Given the description of an element on the screen output the (x, y) to click on. 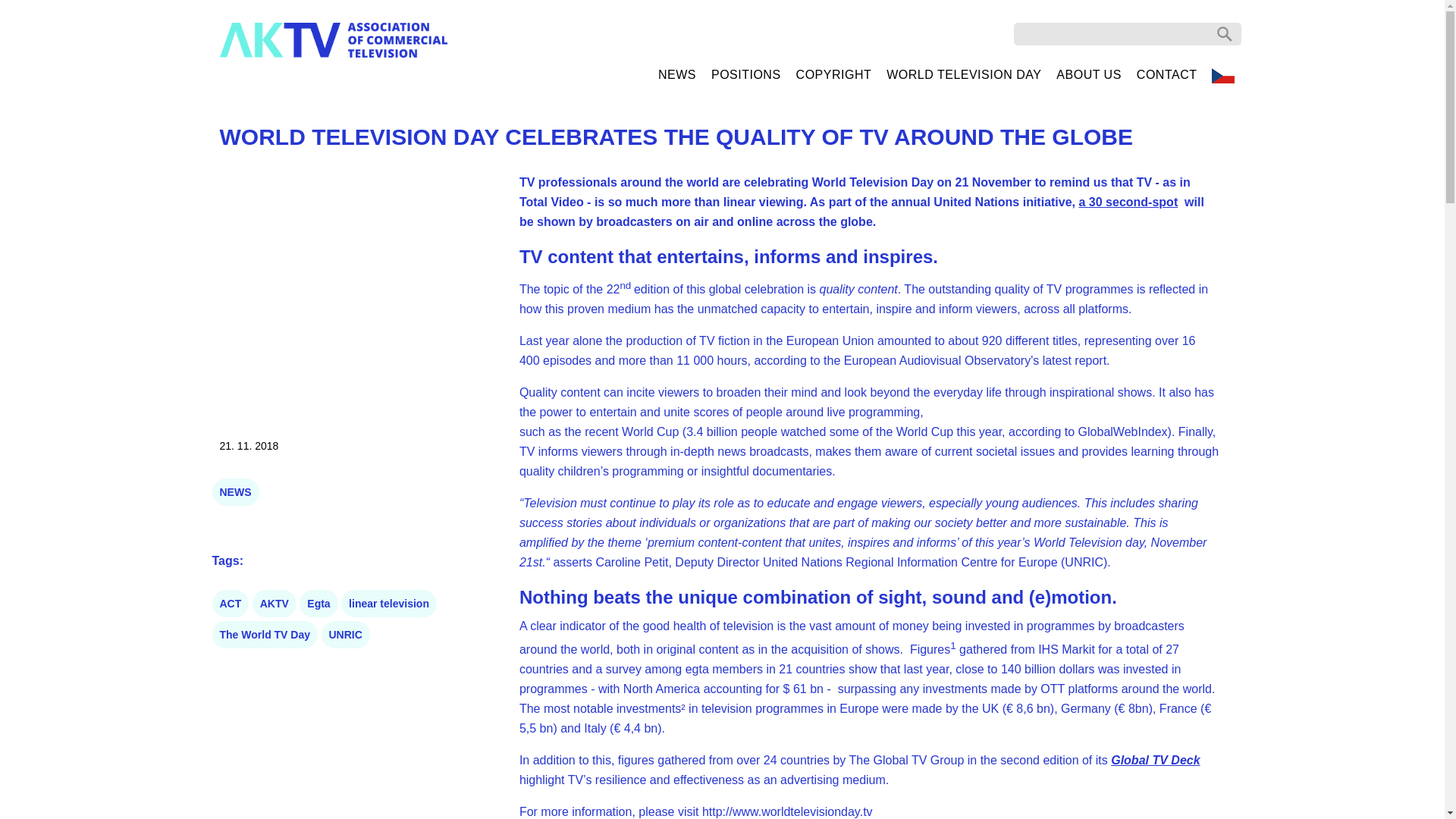
COPYRIGHT (834, 74)
POSITIONS (745, 74)
ABOUT US (1088, 74)
POSITIONS (745, 74)
AKTV (274, 603)
The World TV Day (265, 633)
CONTACT (1166, 74)
WORLD TELEVISION DAY (963, 74)
a 30 second-spot (1127, 201)
Egta (318, 603)
